Given the description of an element on the screen output the (x, y) to click on. 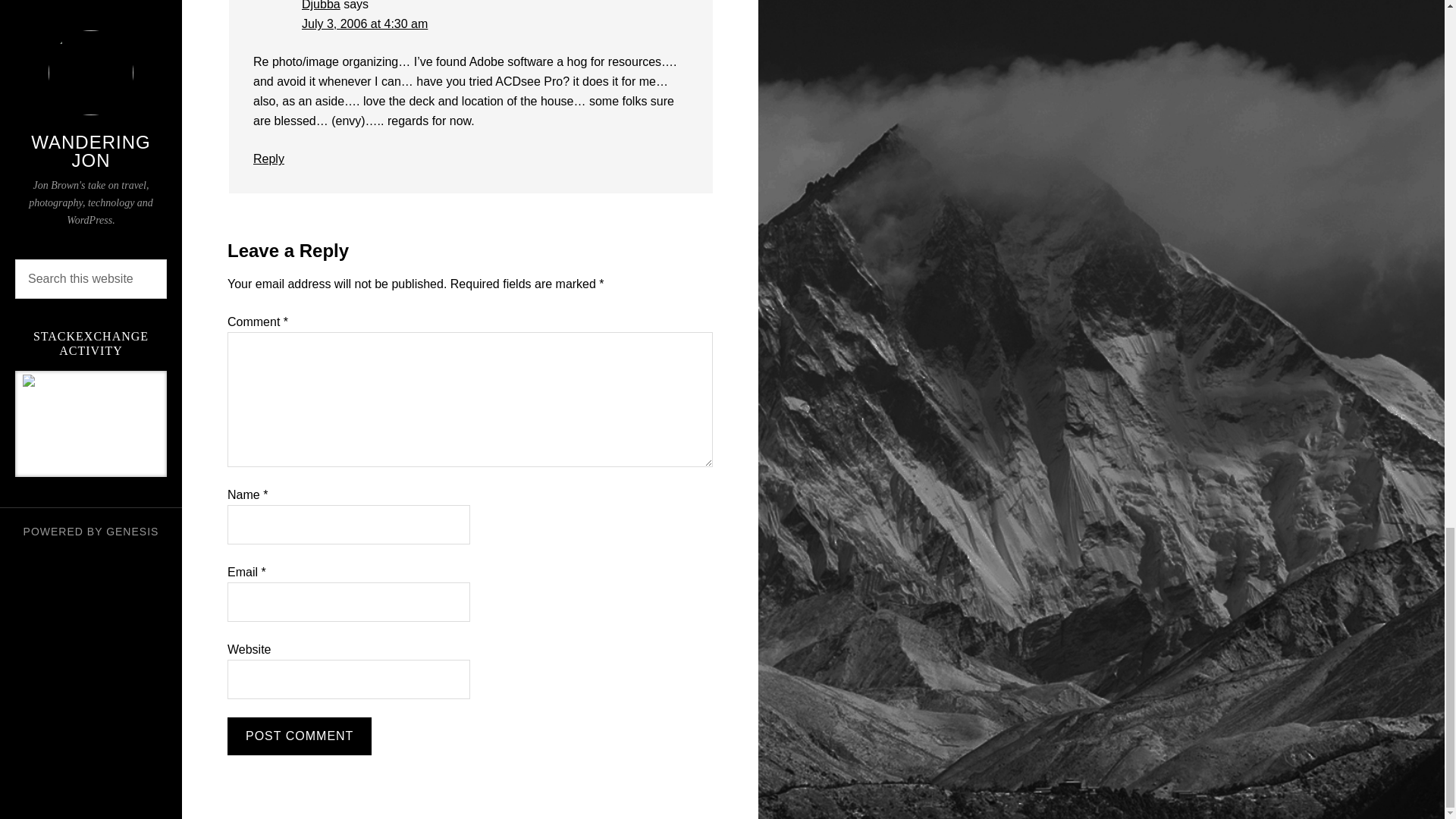
Post Comment (299, 736)
Djubba (320, 5)
Reply (268, 158)
July 3, 2006 at 4:30 am (364, 23)
Post Comment (299, 736)
